Given the description of an element on the screen output the (x, y) to click on. 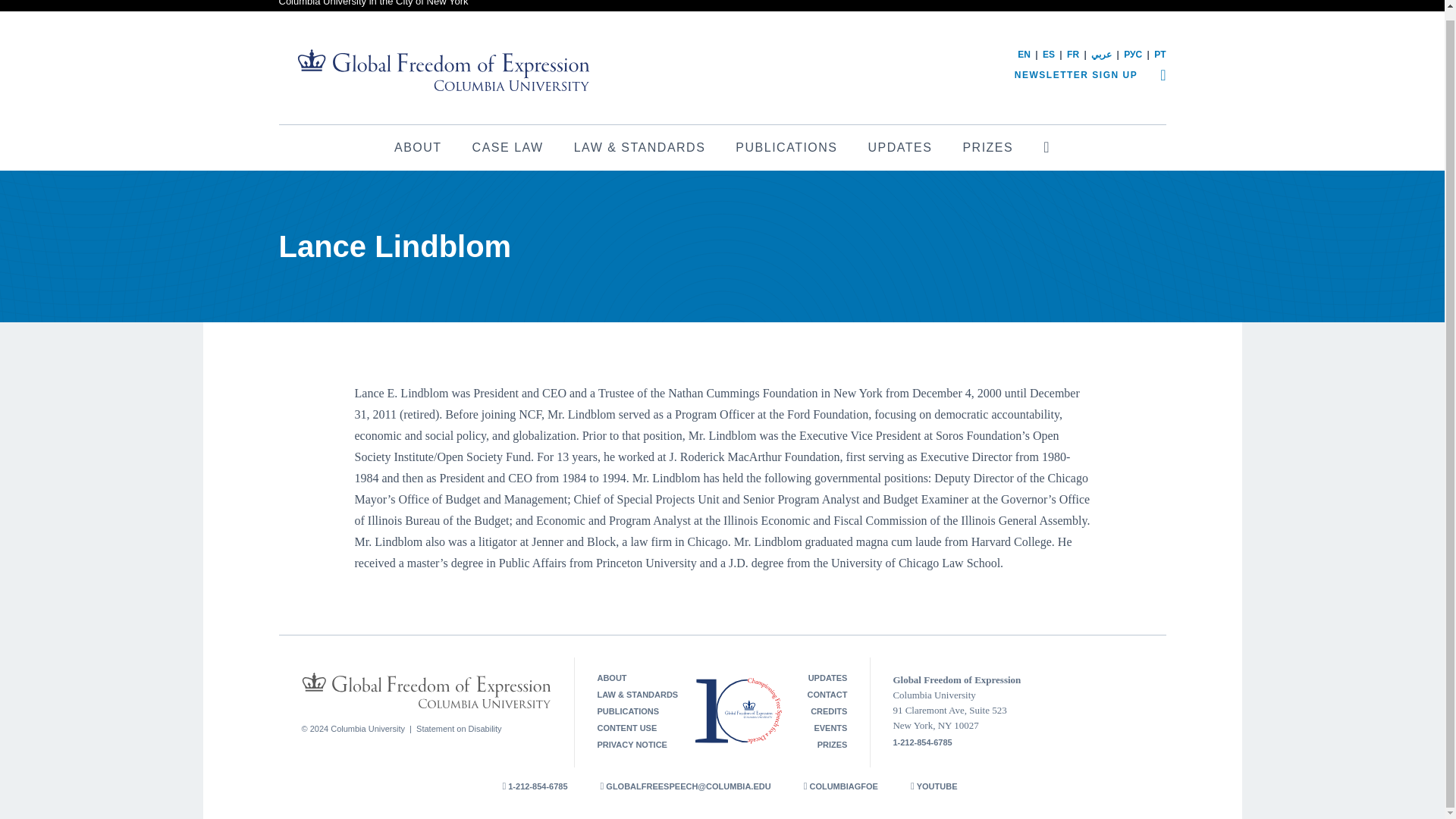
UPDATES (900, 147)
ABOUT (611, 677)
CASE LAW (508, 147)
Columbia University in the City of New York (373, 3)
PRIZES (987, 147)
PUBLICATIONS (785, 147)
EN (1023, 54)
PT (1160, 54)
ES (1048, 54)
